Given the description of an element on the screen output the (x, y) to click on. 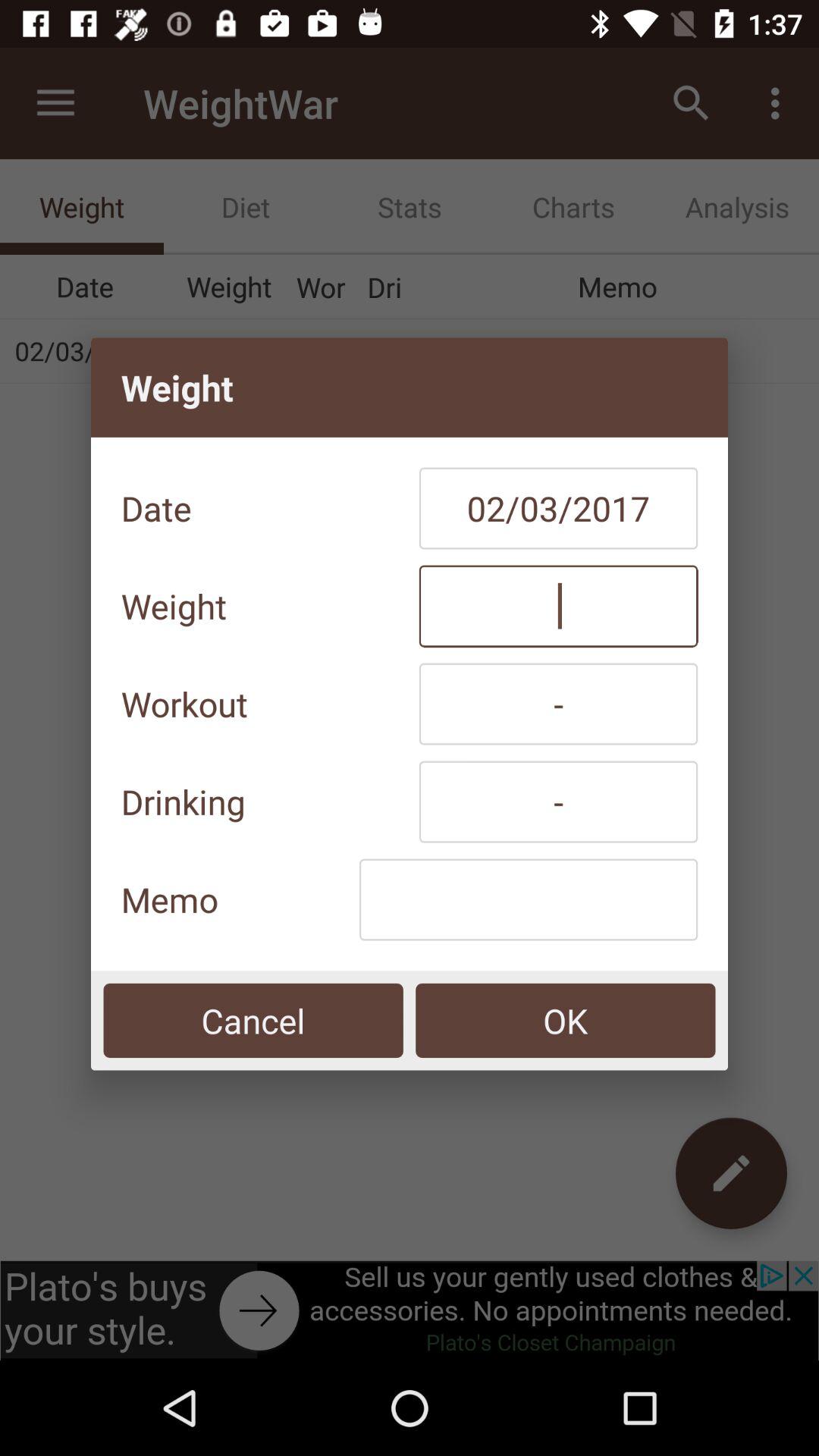
turn off item next to date icon (558, 508)
